Given the description of an element on the screen output the (x, y) to click on. 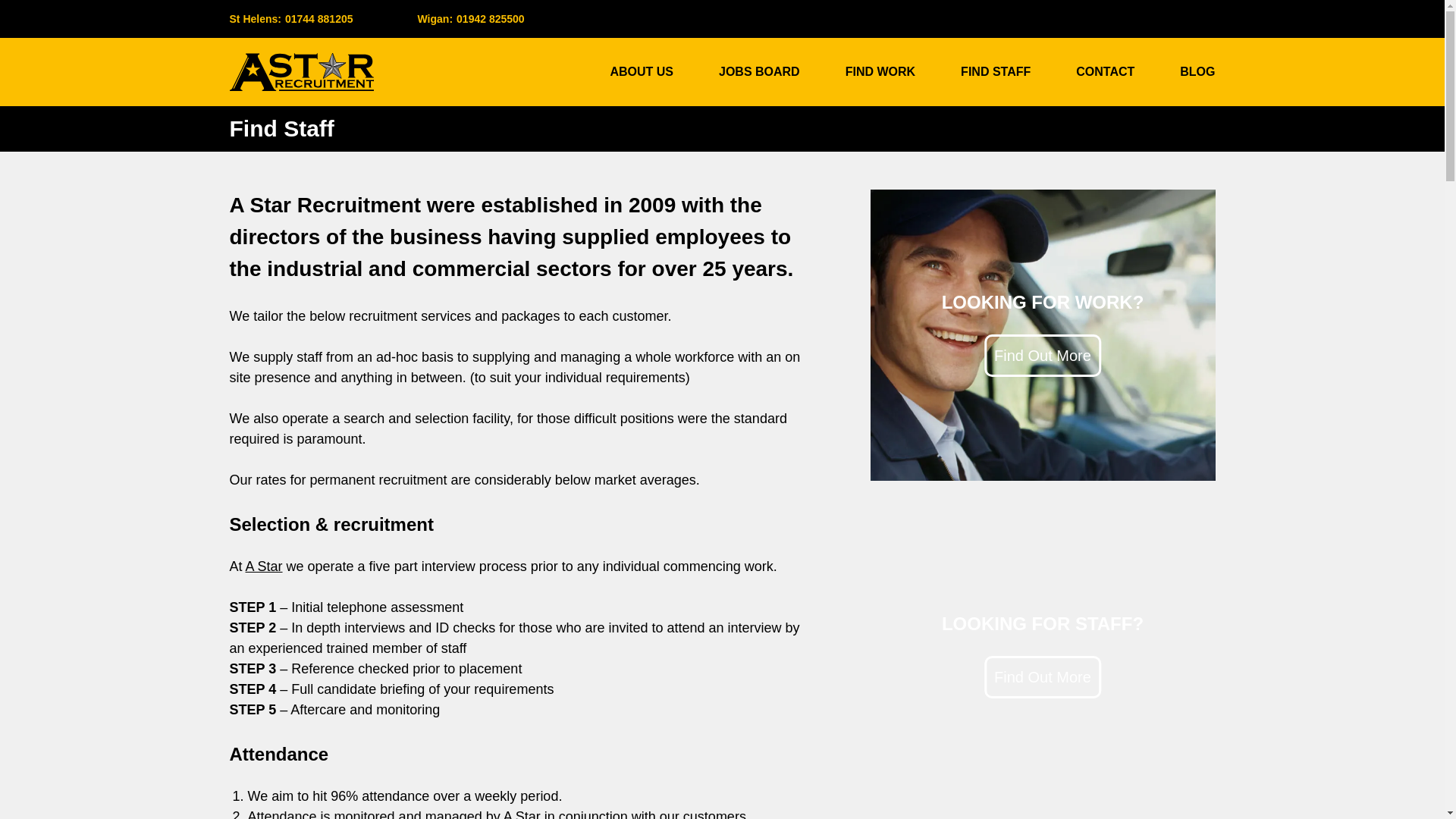
Like our St Helens on Facebook (1042, 334)
CONTACT (376, 18)
01744 881205 (1104, 71)
FIND STAFF (319, 18)
BLOG (995, 71)
ABOUT US (1196, 71)
Like our Wigan on Facebook (1042, 656)
A Star Recruitment (641, 71)
